Given the description of an element on the screen output the (x, y) to click on. 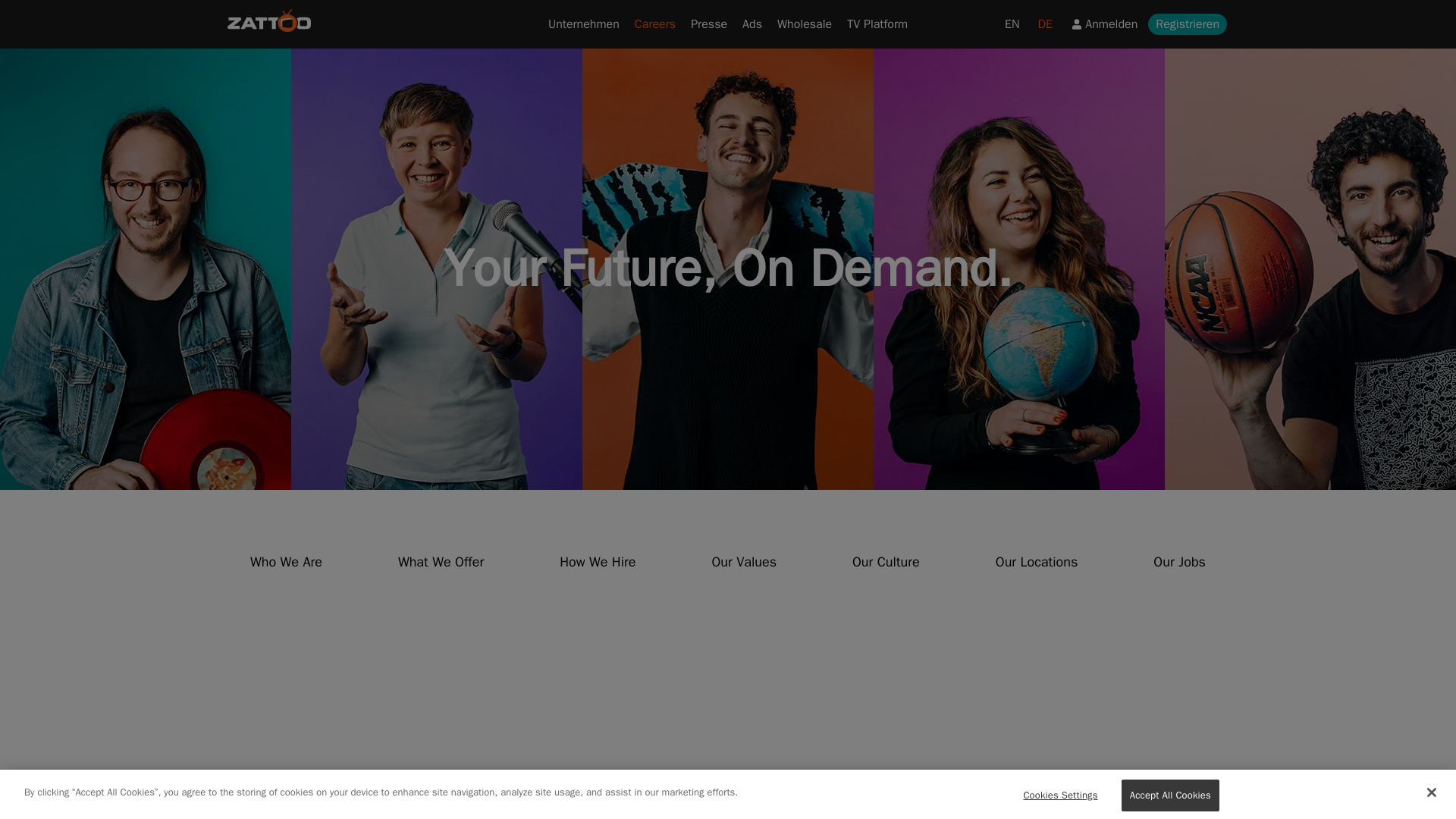
Careers (654, 24)
How We Hire (597, 561)
DE (1044, 24)
Anmelden (1103, 24)
Ads (752, 24)
EN (1012, 24)
Our Jobs (1179, 561)
What We Offer (440, 561)
Who We Are (286, 561)
Registrieren (1187, 24)
